Given the description of an element on the screen output the (x, y) to click on. 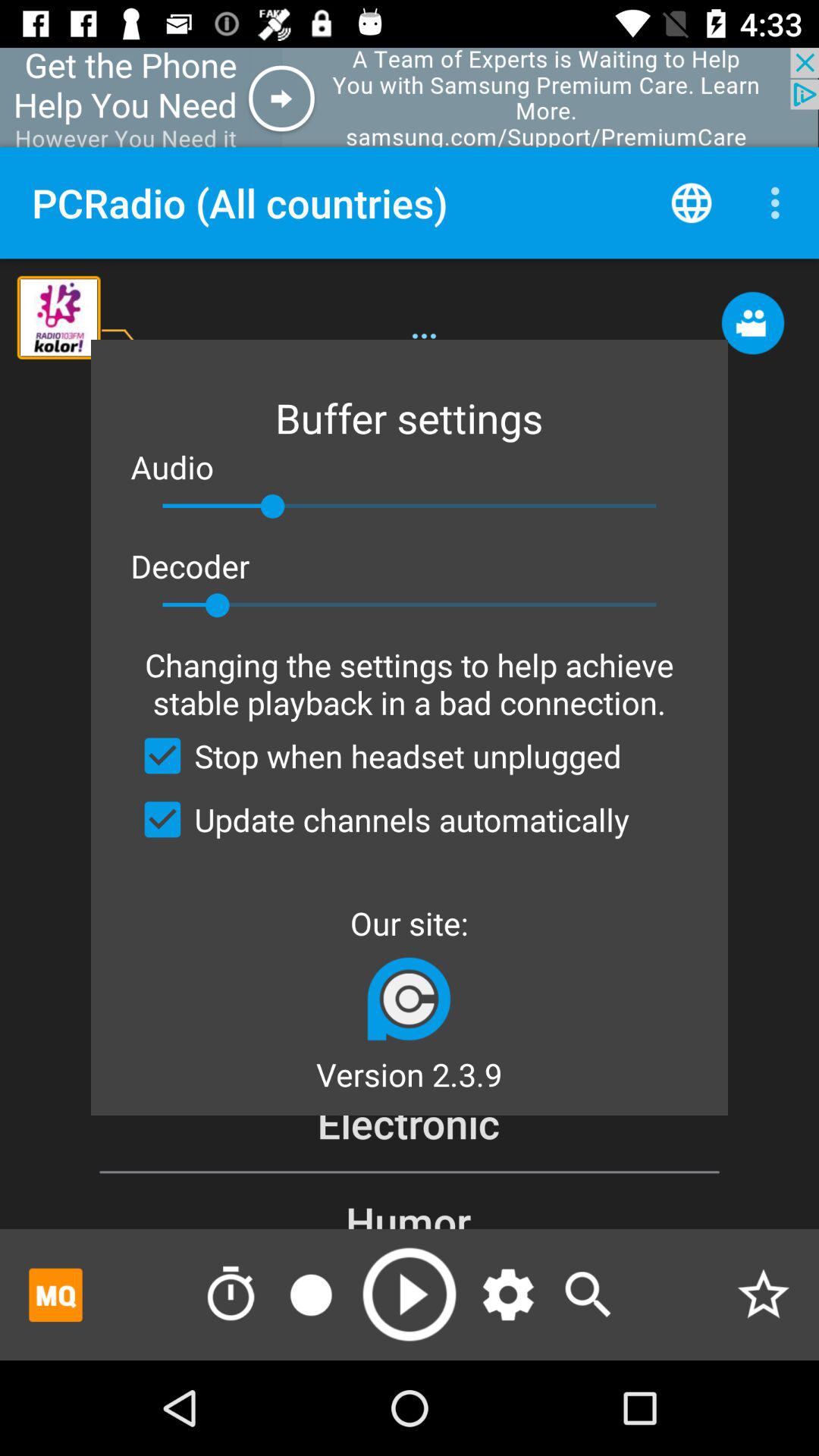
choose checkbox below the stop when headset checkbox (379, 819)
